Given the description of an element on the screen output the (x, y) to click on. 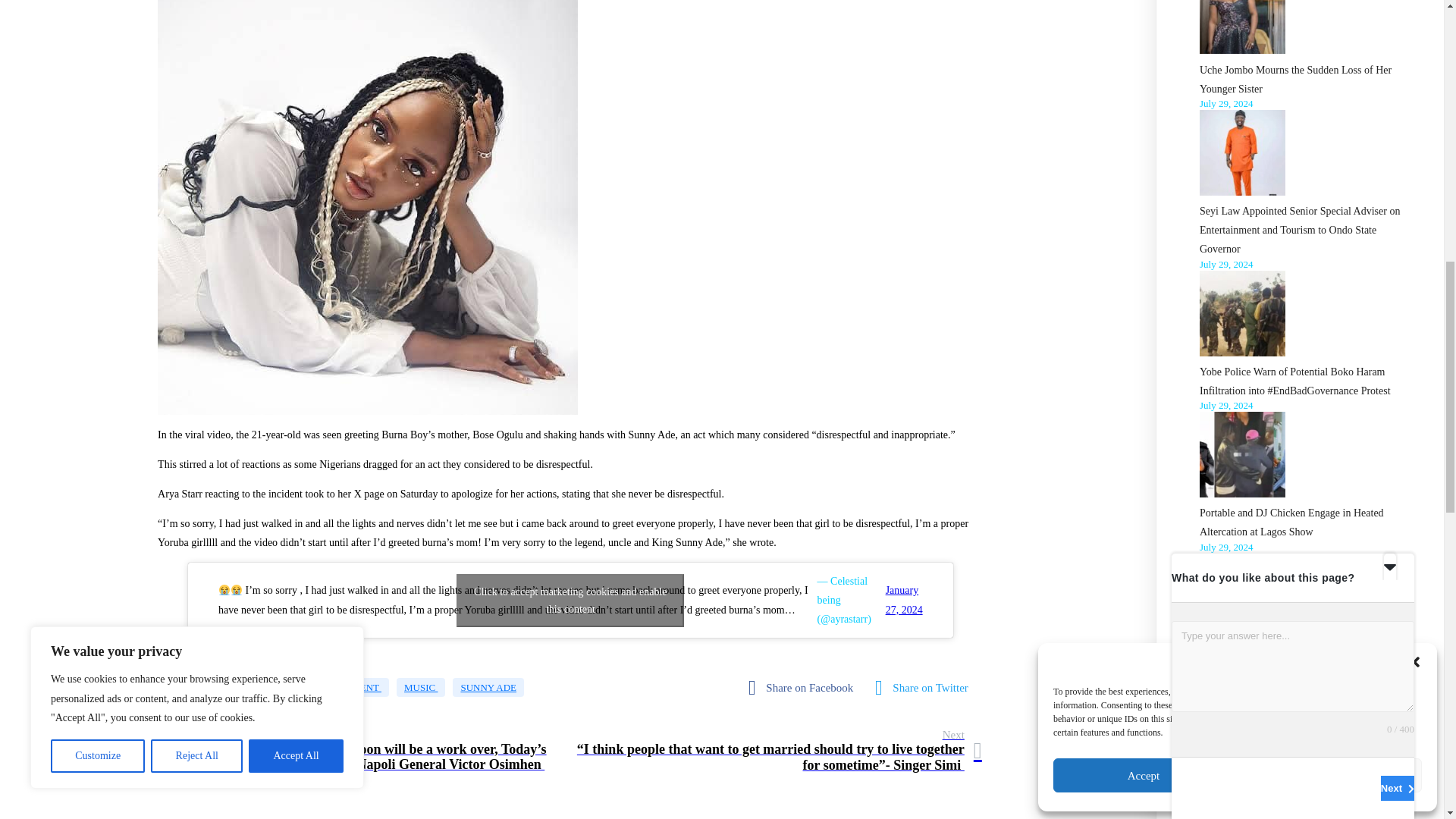
fab fa-facebook-square (804, 687)
Click to accept marketing cookies and enable this content (570, 600)
AYRA STARR (243, 687)
fab fa-twitter-square (925, 687)
January 27, 2024 (904, 599)
